Given the description of an element on the screen output the (x, y) to click on. 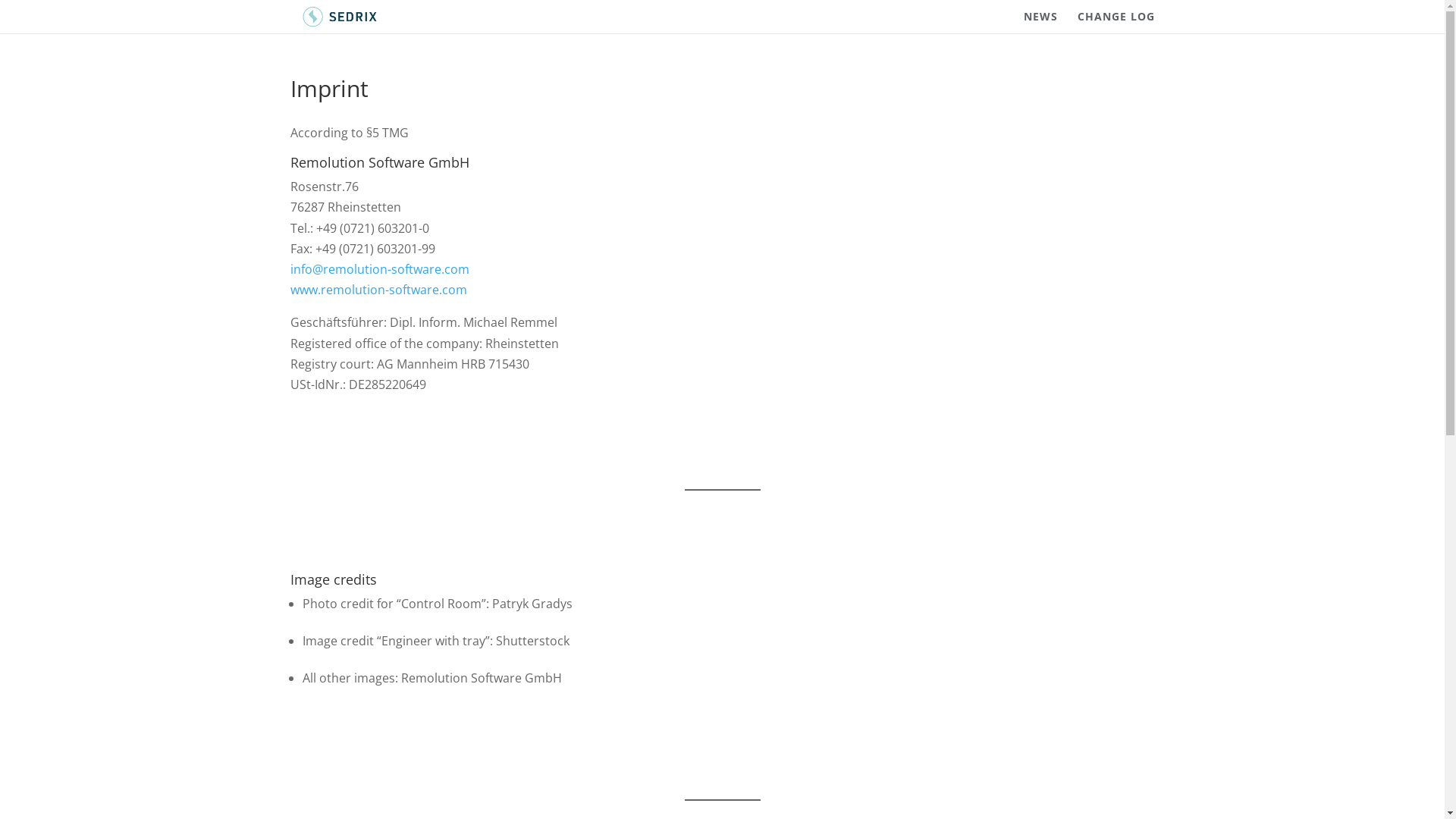
NEWS Element type: text (1040, 22)
CHANGE LOG Element type: text (1115, 22)
www.remolution-software.com Element type: text (377, 289)
info@remolution-software.com Element type: text (378, 268)
